Given the description of an element on the screen output the (x, y) to click on. 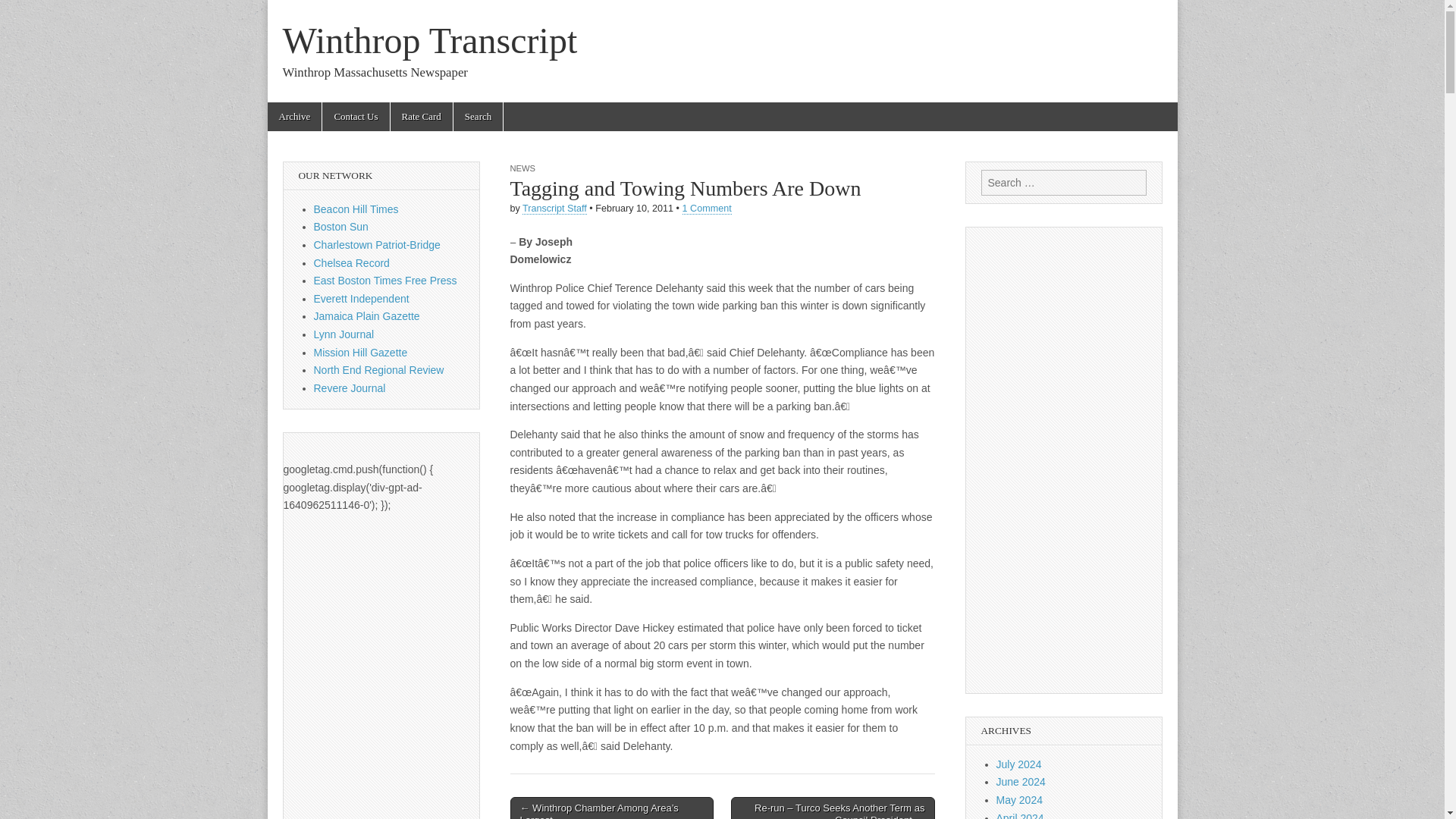
Rate Card (421, 116)
Boston Sun (341, 226)
Charlestown Patriot-Bridge (377, 244)
NEWS (522, 167)
North End Regional Review (379, 369)
Transcript Staff (554, 208)
Revere Journal (349, 387)
1 Comment (707, 208)
Everett Independent (361, 298)
Chelsea Record (352, 263)
Jamaica Plain Gazette (367, 316)
Beacon Hill Times (356, 209)
Posts by Transcript Staff (554, 208)
Archive (293, 116)
